Given the description of an element on the screen output the (x, y) to click on. 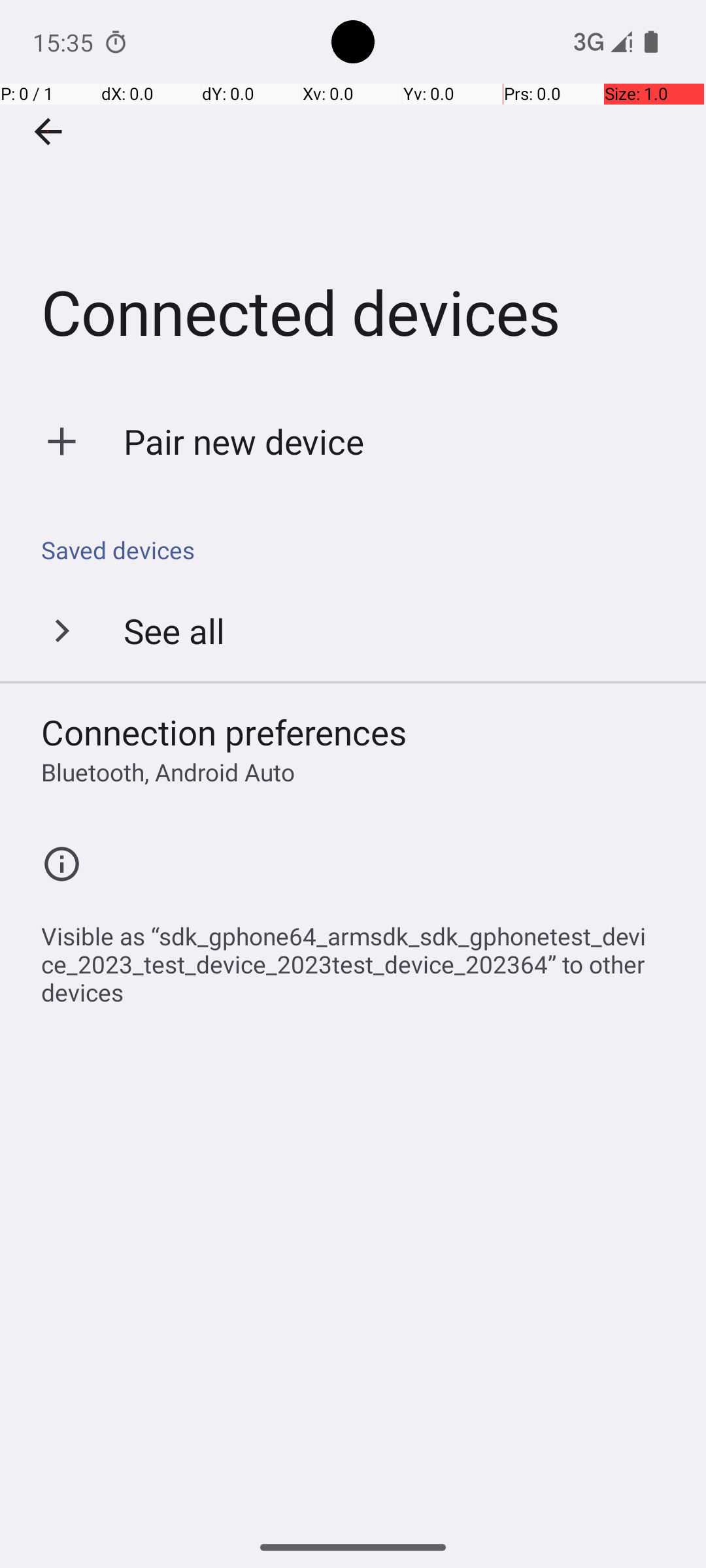
Visible as “sdk_gphone64_armsdk_sdk_gphonetest_device_2023_test_device_2023test_device_202364” to other devices Element type: android.widget.TextView (359, 956)
